Given the description of an element on the screen output the (x, y) to click on. 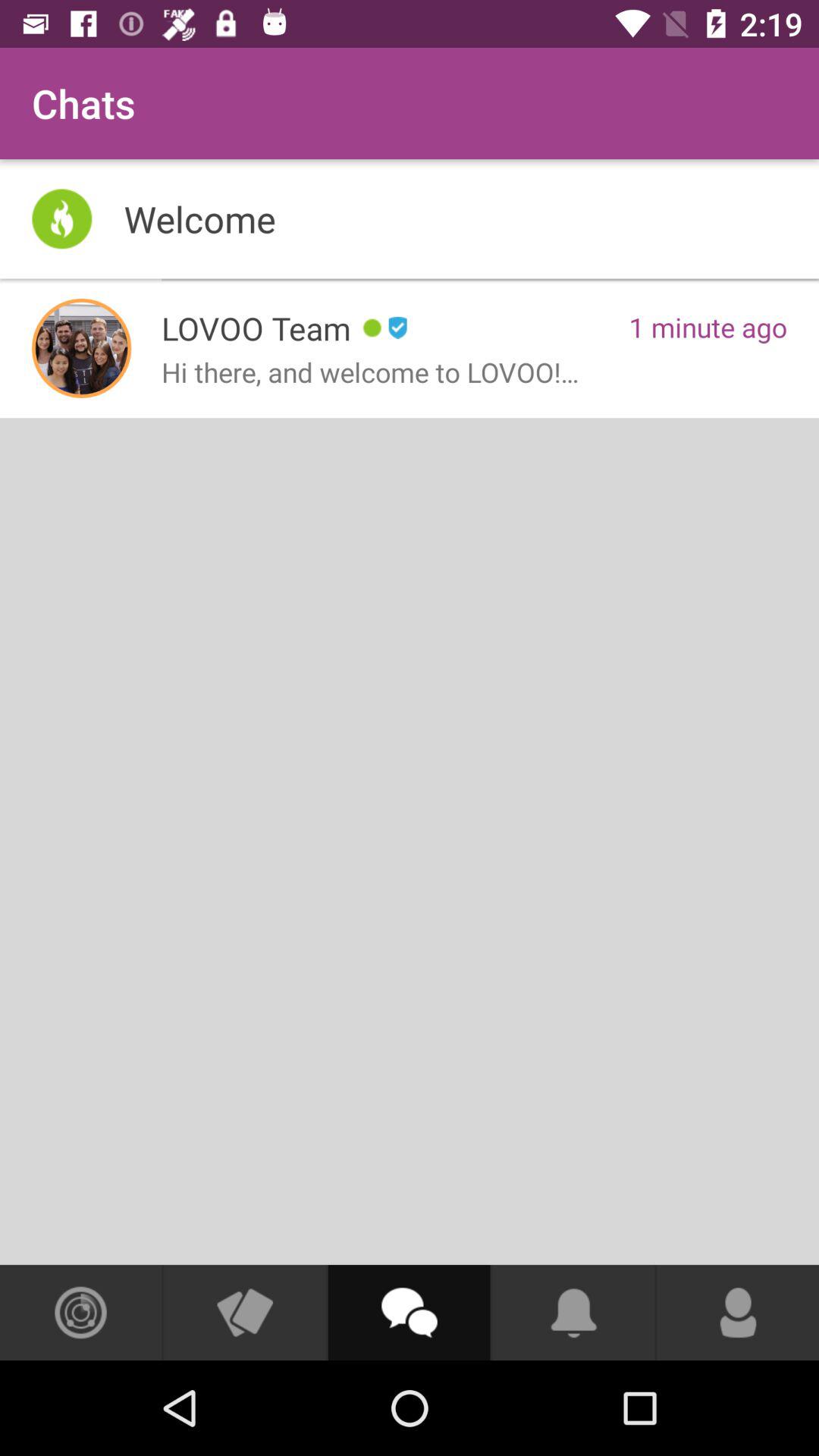
open chat (409, 1312)
